Given the description of an element on the screen output the (x, y) to click on. 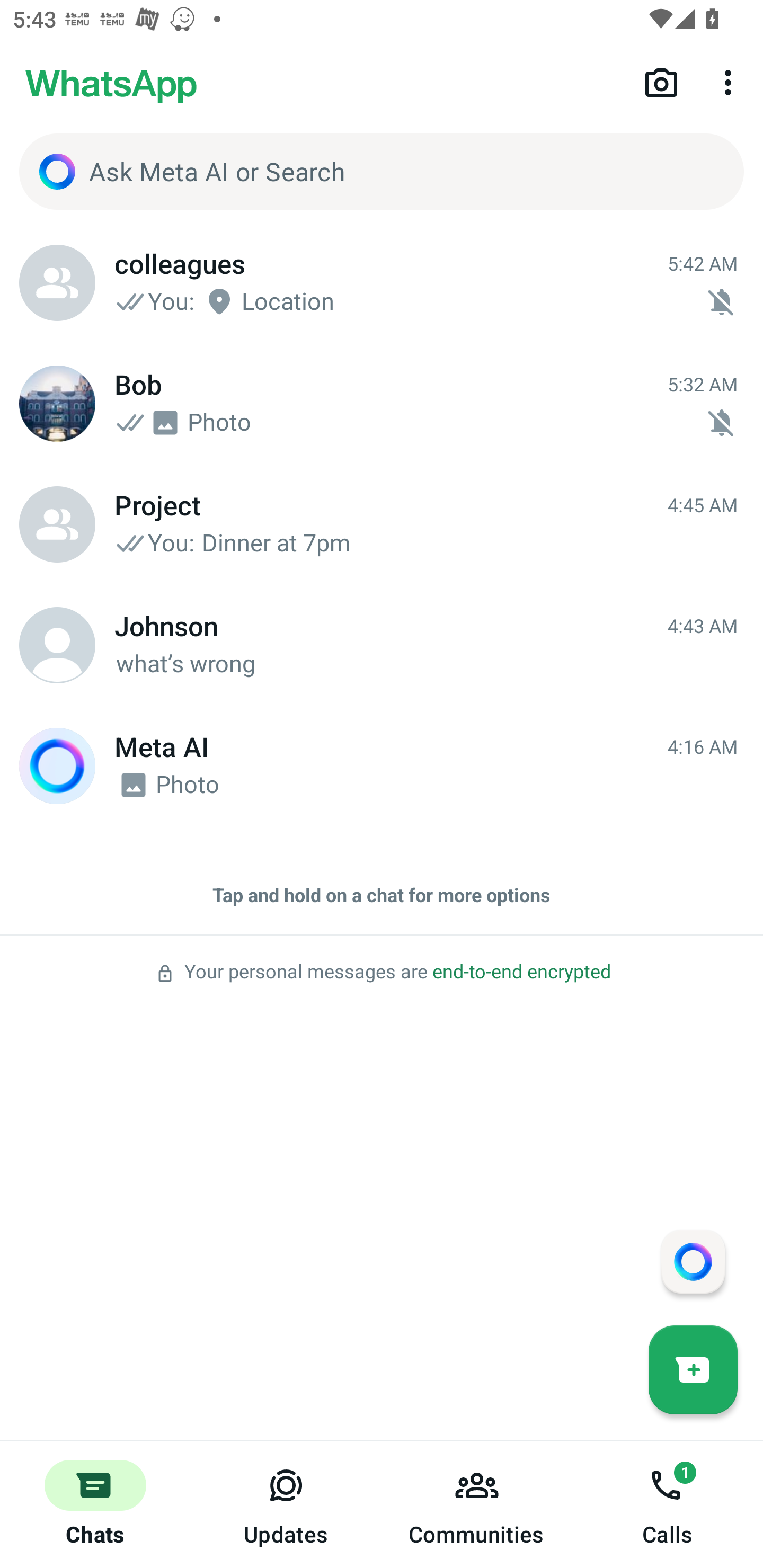
Camera (661, 81)
More options (731, 81)
colleagues (57, 282)
Bob Bob 5:32 AM 5:32 AM Photo Mute notifications (381, 403)
Bob (57, 403)
Project (57, 524)
Johnson Johnson 4:43 AM 4:43 AM what’s wrong (381, 644)
Johnson (57, 644)
Meta AI Meta AI 4:16 AM 4:16 AM Photo (381, 765)
Meta AI (57, 765)
end-to-end encrypted (521, 972)
Message your assistant (692, 1261)
New chat (692, 1369)
Updates (285, 1504)
Communities (476, 1504)
Calls, 1 new notification Calls (667, 1504)
